Given the description of an element on the screen output the (x, y) to click on. 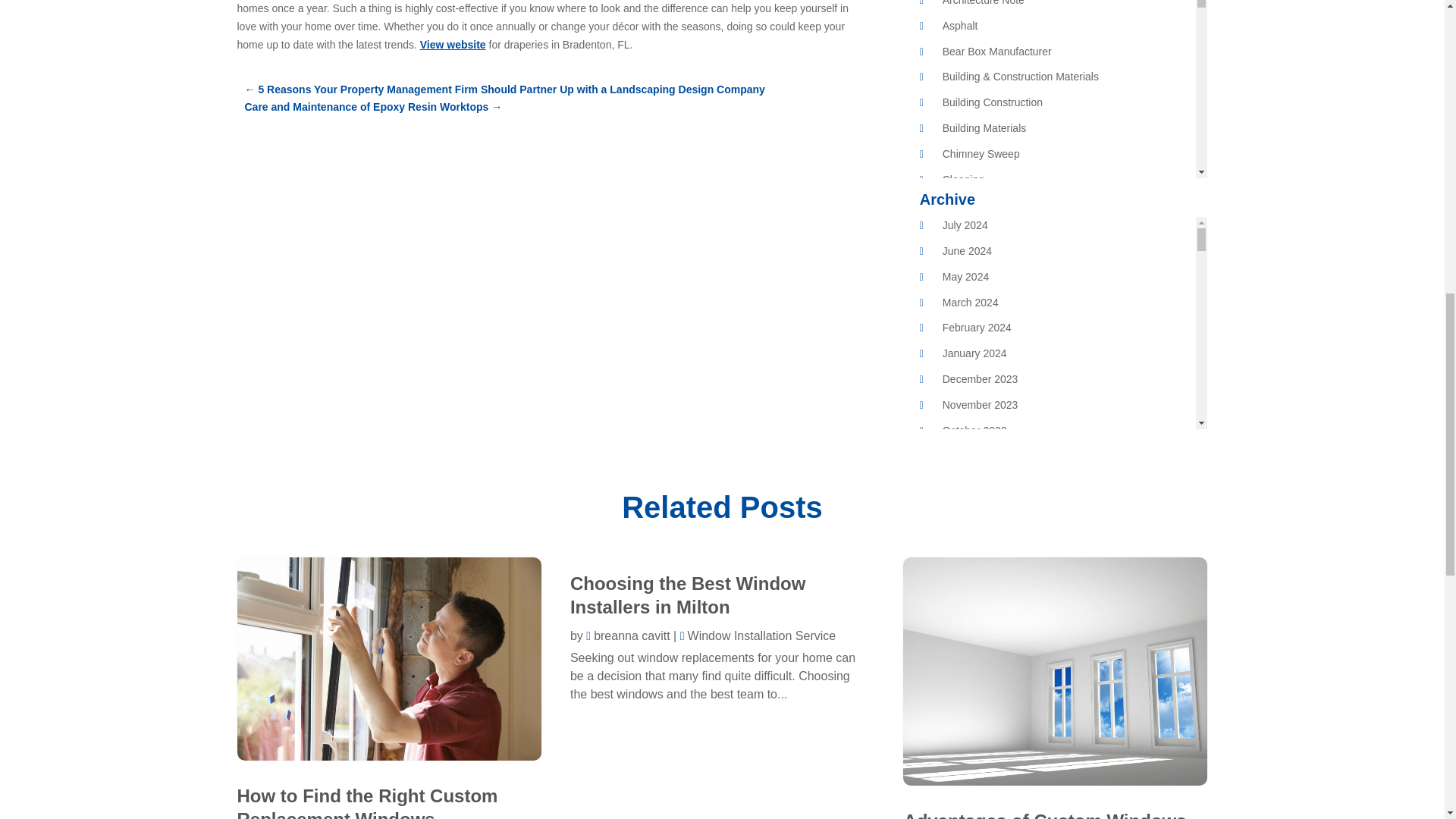
View website (453, 44)
Posts by breanna cavitt (627, 635)
Chimney Sweep (981, 153)
Concrete Contractor (990, 204)
Cleaning (963, 179)
Building Materials (984, 128)
Asphalt (960, 25)
Bear Box Manufacturer (996, 51)
Architecture Note (983, 2)
Building Construction (992, 102)
